Given the description of an element on the screen output the (x, y) to click on. 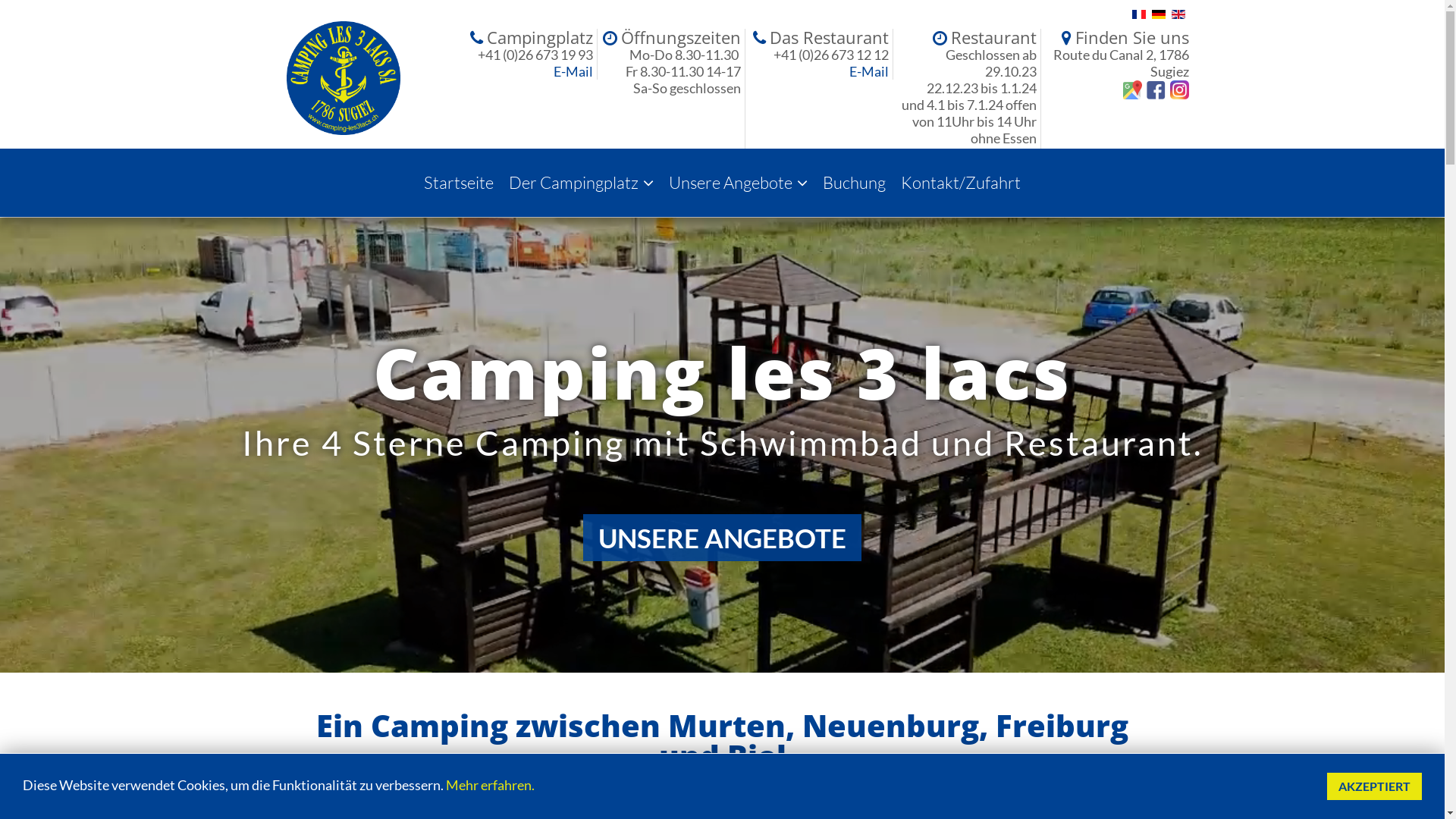
Startseite Element type: text (458, 182)
German Element type: hover (1157, 13)
French Element type: hover (1138, 13)
E-Mail Element type: text (573, 70)
Mehr erfahren. Element type: text (489, 784)
Unsere Angebote Element type: text (738, 182)
Buchung Element type: text (854, 182)
   Element type: text (1176, 87)
E-Mail Element type: text (868, 70)
   Element type: text (1153, 87)
English (UK) Element type: hover (1177, 13)
Kontakt/Zufahrt Element type: text (960, 182)
AKZEPTIERT Element type: text (1374, 786)
UNSERE ANGEBOTE Element type: text (722, 537)
Der Campingplatz Element type: text (581, 182)
